Given the description of an element on the screen output the (x, y) to click on. 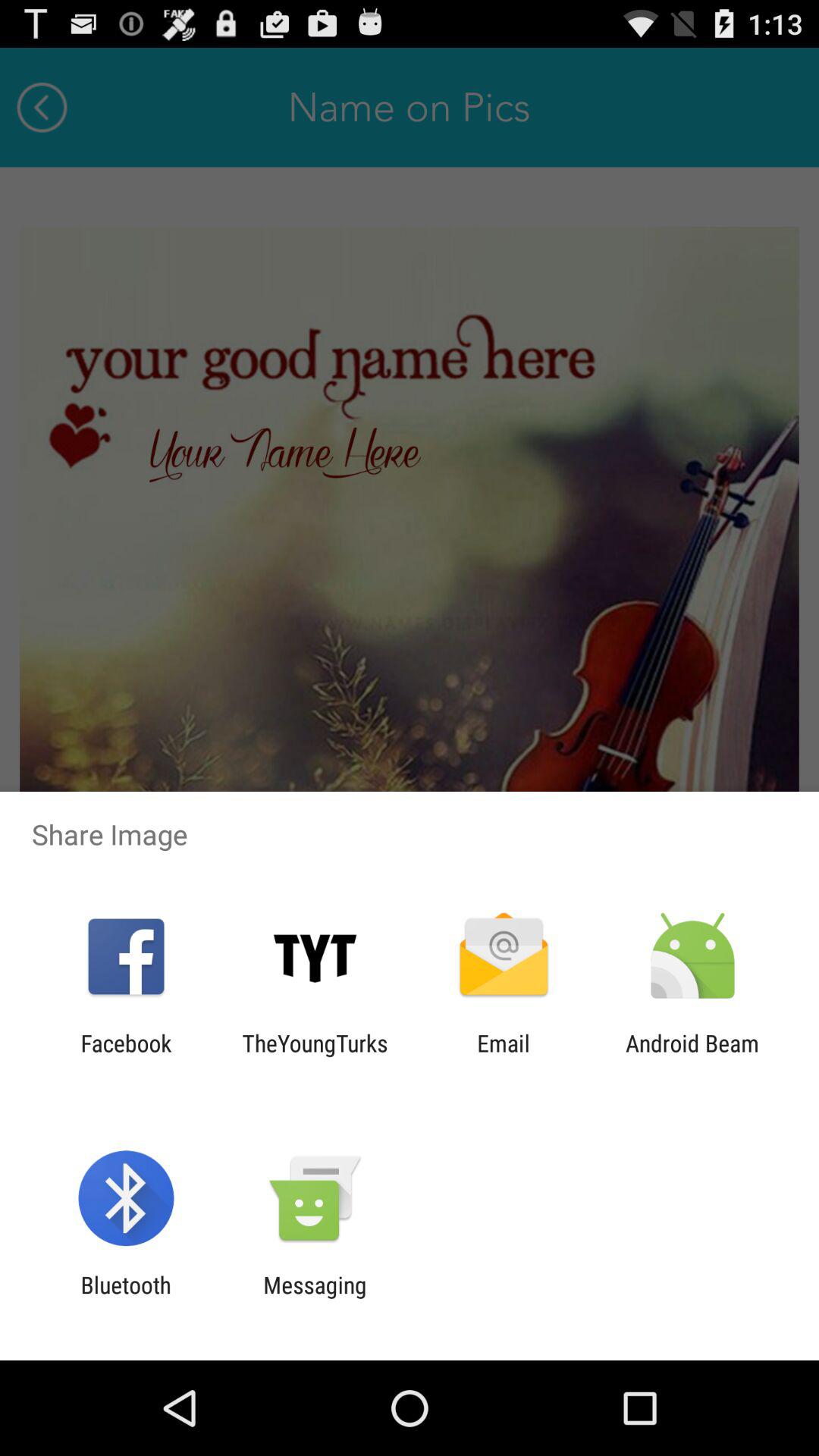
flip until facebook app (125, 1056)
